Given the description of an element on the screen output the (x, y) to click on. 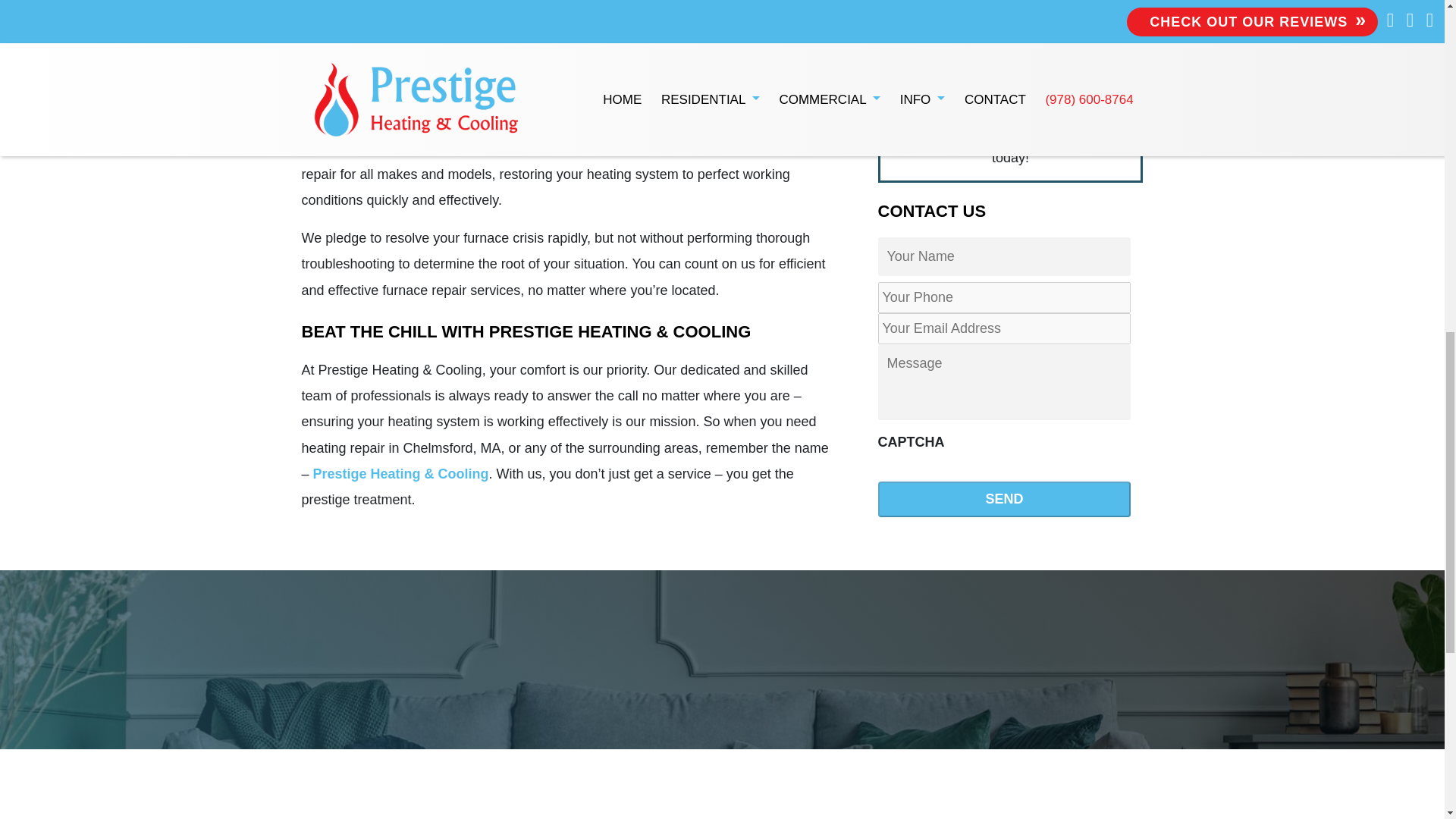
Send (1004, 126)
